Given the description of an element on the screen output the (x, y) to click on. 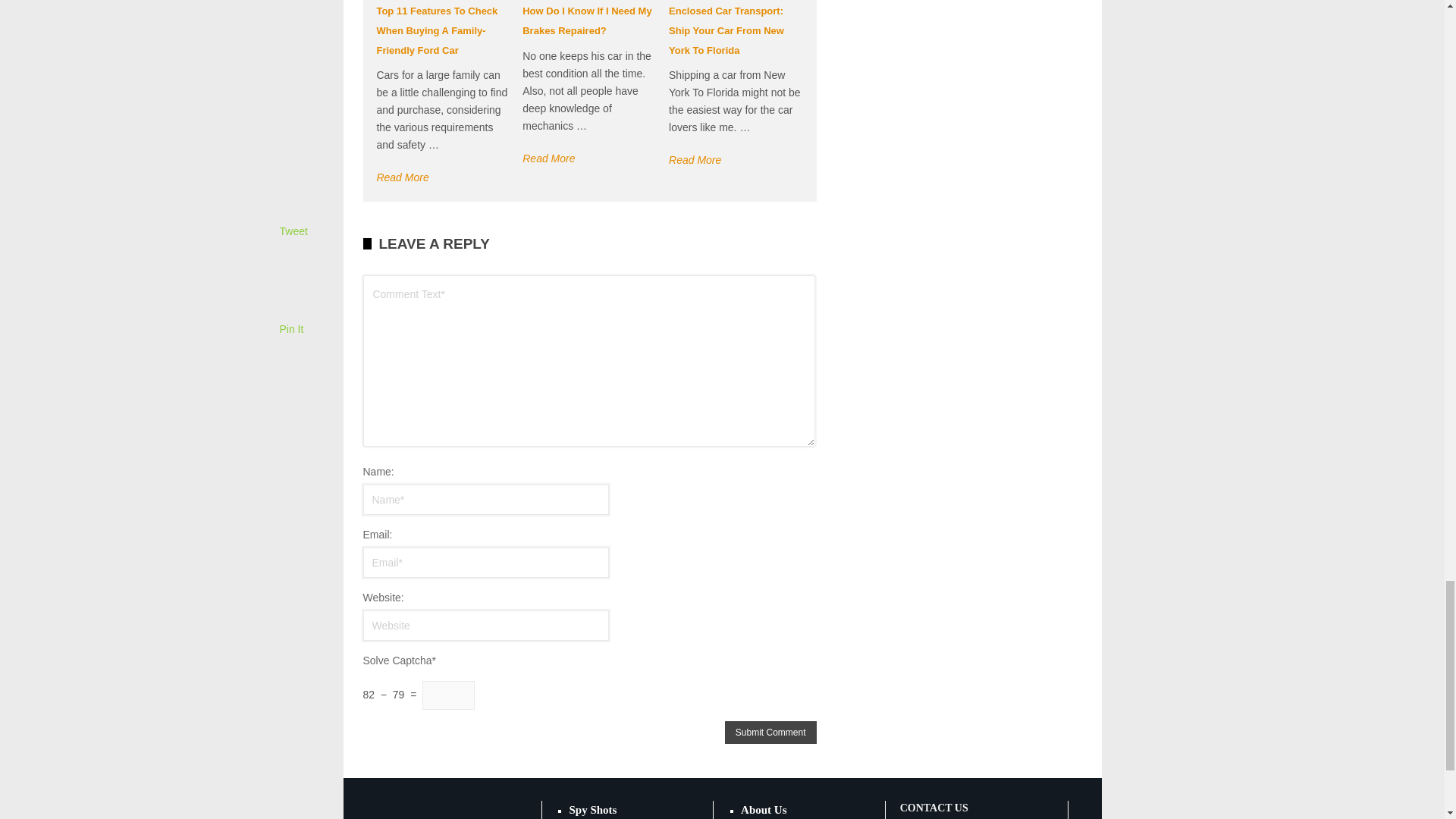
Submit Comment (770, 732)
How Do I Know if I Need My Brakes Repaired? (586, 20)
